Given the description of an element on the screen output the (x, y) to click on. 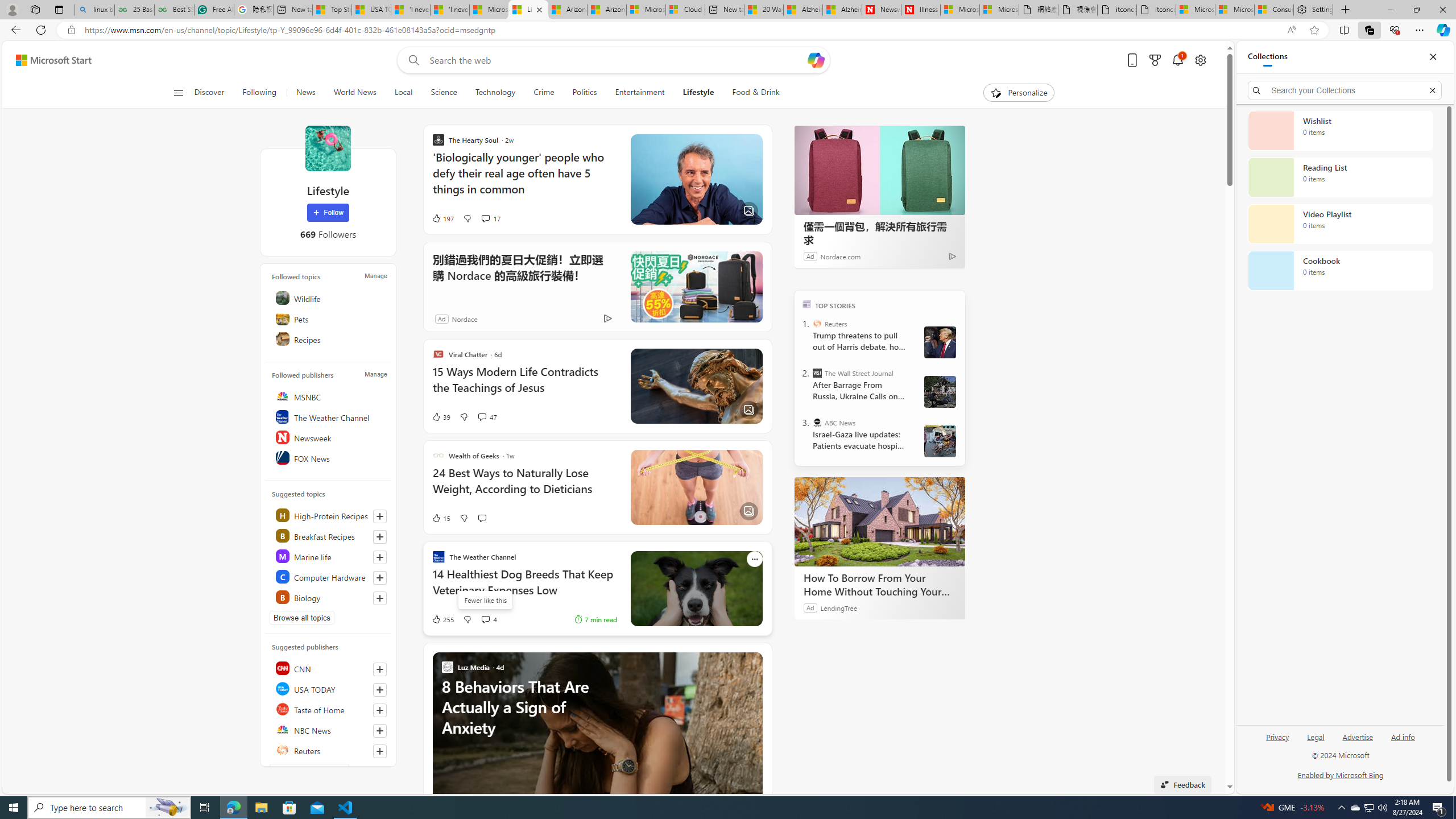
View comments 17 Comment (485, 217)
Follow this topic (379, 598)
Open navigation menu (177, 92)
Illness news & latest pictures from Newsweek.com (920, 9)
Taste of Home (328, 709)
View comments 4 Comment (489, 619)
Cloud Computing Services | Microsoft Azure (685, 9)
